Given the description of an element on the screen output the (x, y) to click on. 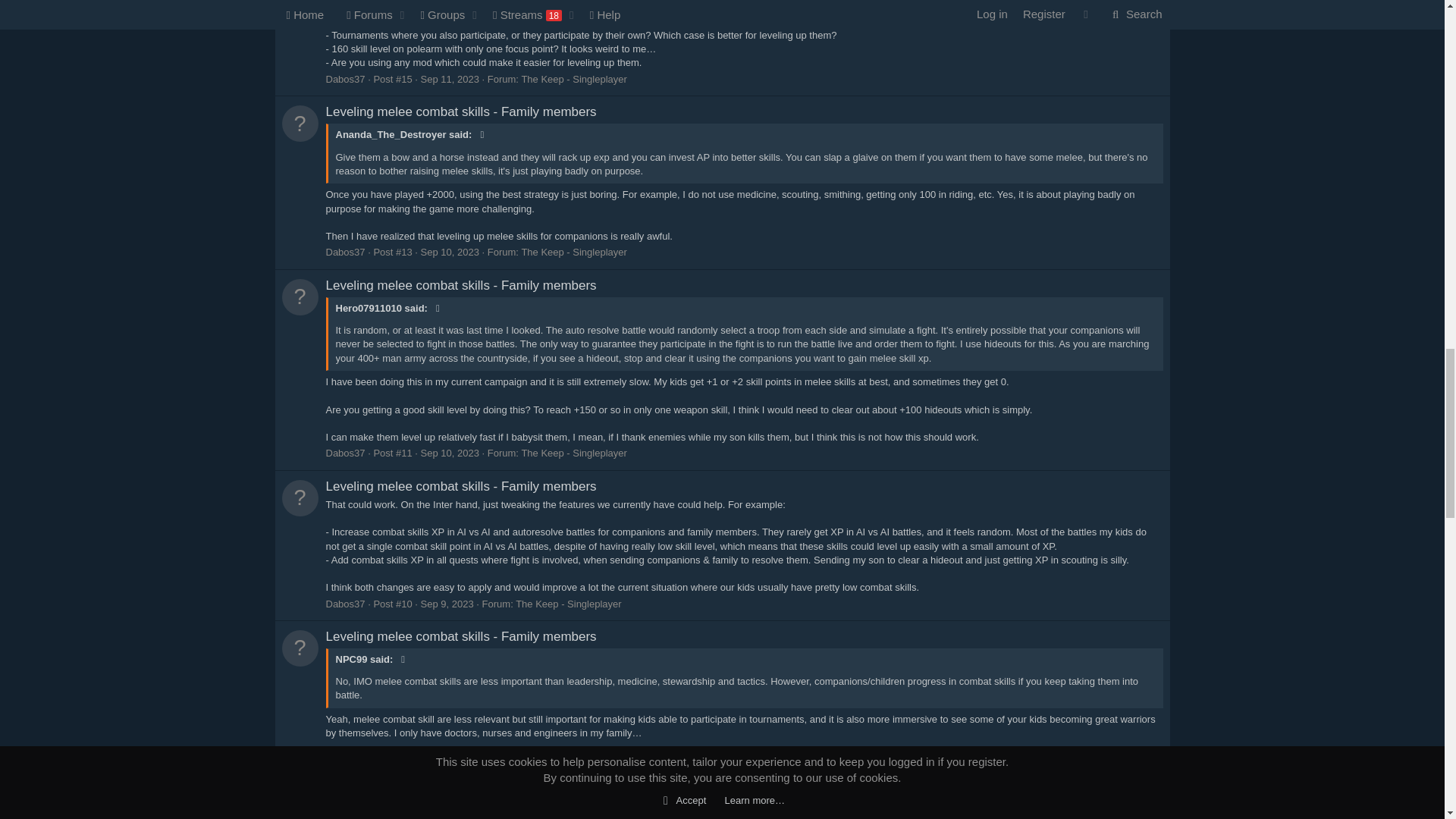
Sep 10, 2023 at 9:44 PM (449, 251)
Sep 10, 2023 at 6:20 PM (449, 452)
Sep 9, 2023 at 8:48 AM (447, 603)
Governor-Melee-Skills.jpg (402, 2)
Sep 11, 2023 at 5:26 PM (449, 79)
